Given the description of an element on the screen output the (x, y) to click on. 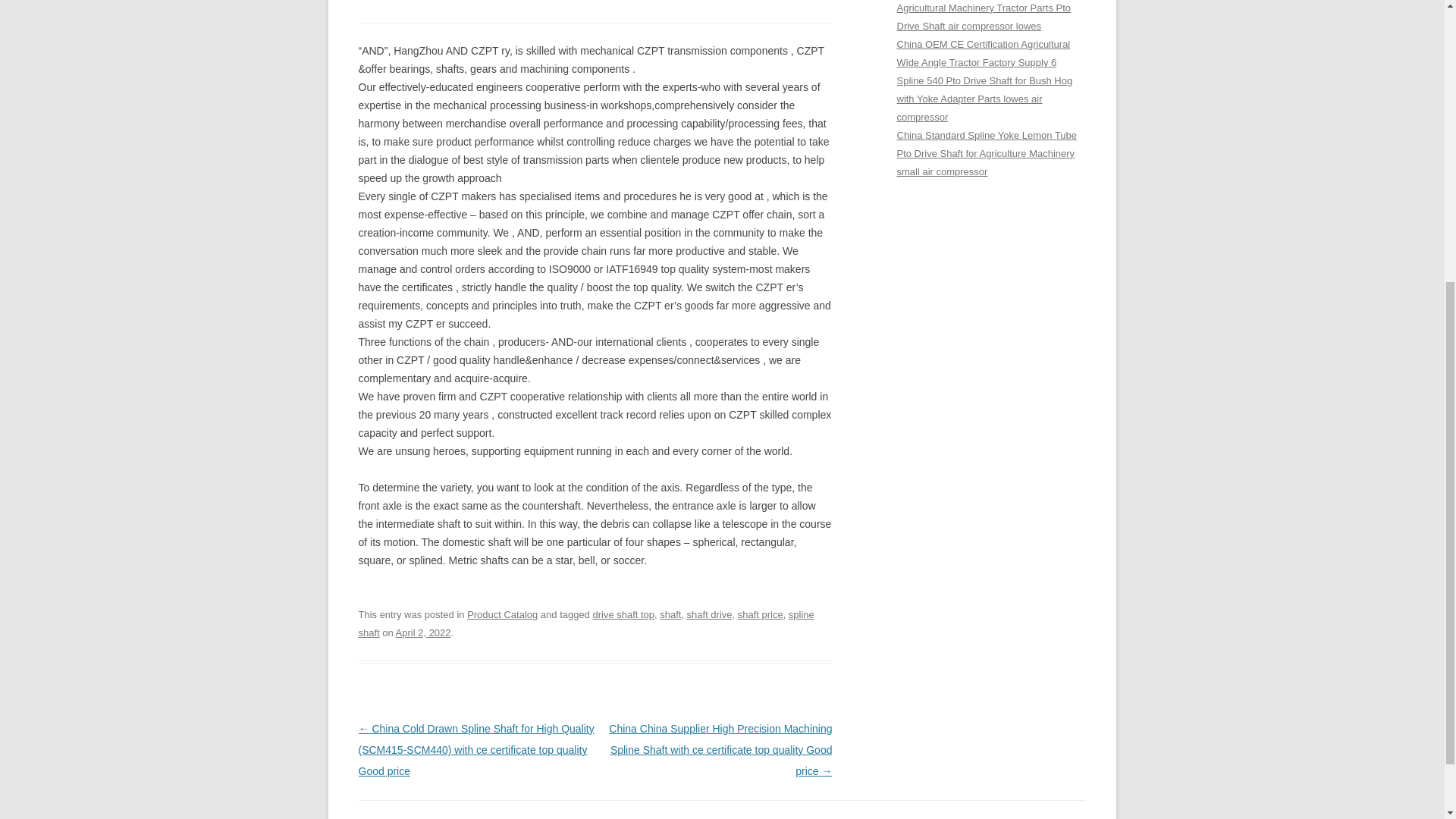
Product Catalog (502, 614)
shaft (670, 614)
drive shaft top (622, 614)
shaft price (760, 614)
spline shaft (585, 623)
April 2, 2022 (423, 632)
shaft drive (709, 614)
10:14 am (423, 632)
